Given the description of an element on the screen output the (x, y) to click on. 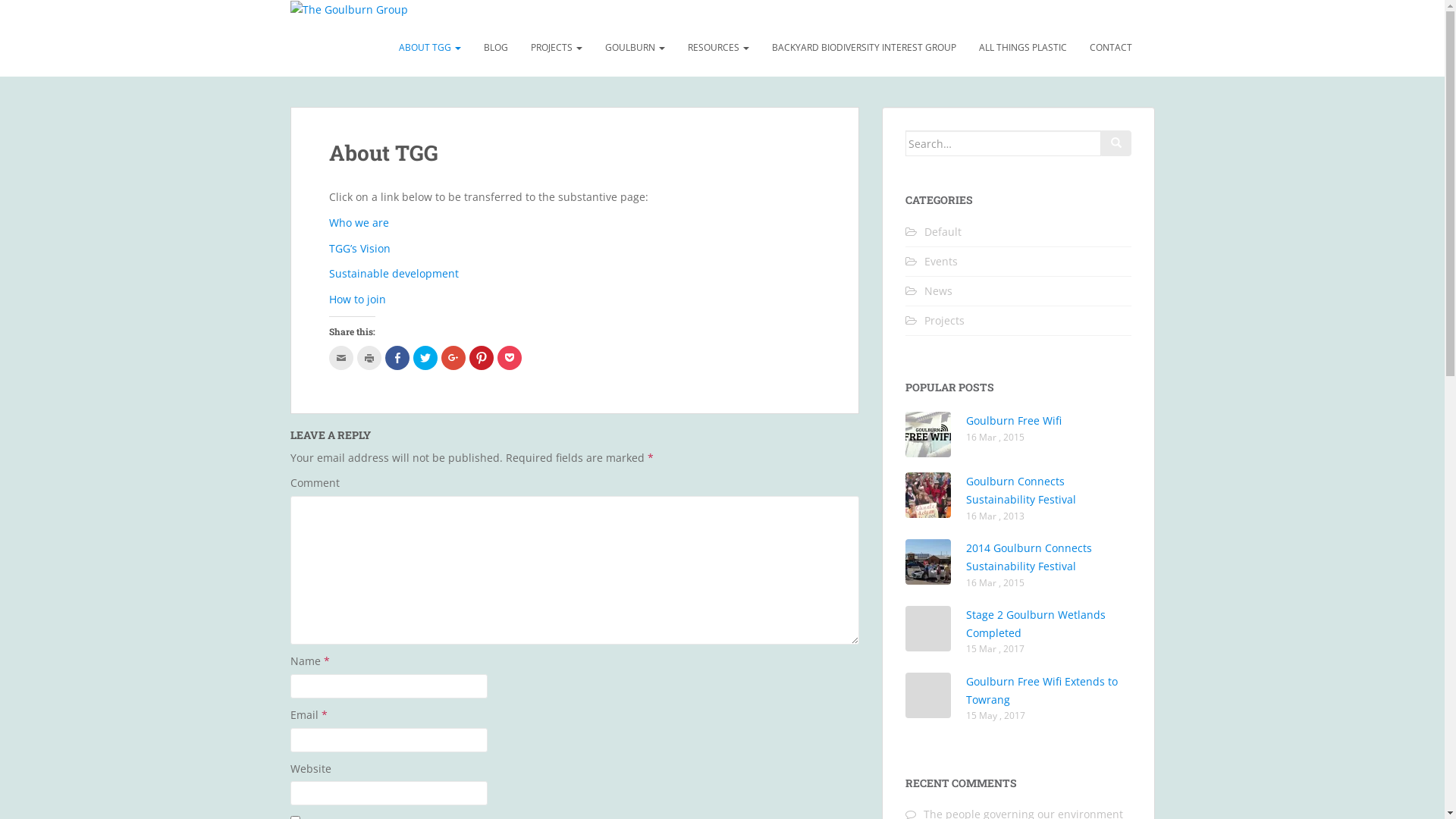
ALL THINGS PLASTIC Element type: text (1022, 47)
How to join Element type: text (357, 298)
Projects Element type: text (943, 320)
Click to share on Pinterest (Opens in new window) Element type: text (480, 357)
Goulburn Free Wifi Extends to Towrang Element type: text (1041, 690)
Goulburn Connects Sustainability Festival Element type: text (1021, 489)
Click to share on Pocket (Opens in new window) Element type: text (509, 357)
Events Element type: text (940, 261)
2014 Goulburn Connects Sustainability Festival Element type: text (1029, 556)
Who we are Element type: text (359, 222)
RESOURCES Element type: text (718, 47)
Stage 2 Goulburn Wetlands Completed Element type: text (1035, 623)
Click to share on Google+ (Opens in new window) Element type: text (453, 357)
Search Element type: text (1116, 143)
Share on Facebook (Opens in new window) Element type: text (397, 357)
News Element type: text (937, 290)
ABOUT TGG Element type: text (428, 47)
Sustainable development Element type: text (393, 273)
Click to share on Twitter (Opens in new window) Element type: text (424, 357)
BACKYARD BIODIVERSITY INTEREST GROUP Element type: text (862, 47)
Goulburn Free Wifi Element type: text (1013, 420)
PROJECTS Element type: text (555, 47)
BLOG Element type: text (494, 47)
Click to email this to a friend (Opens in new window) Element type: text (341, 357)
GOULBURN Element type: text (634, 47)
CONTACT Element type: text (1110, 47)
Default Element type: text (941, 231)
Search for: Element type: hover (1003, 143)
Click to print (Opens in new window) Element type: text (368, 357)
